Given the description of an element on the screen output the (x, y) to click on. 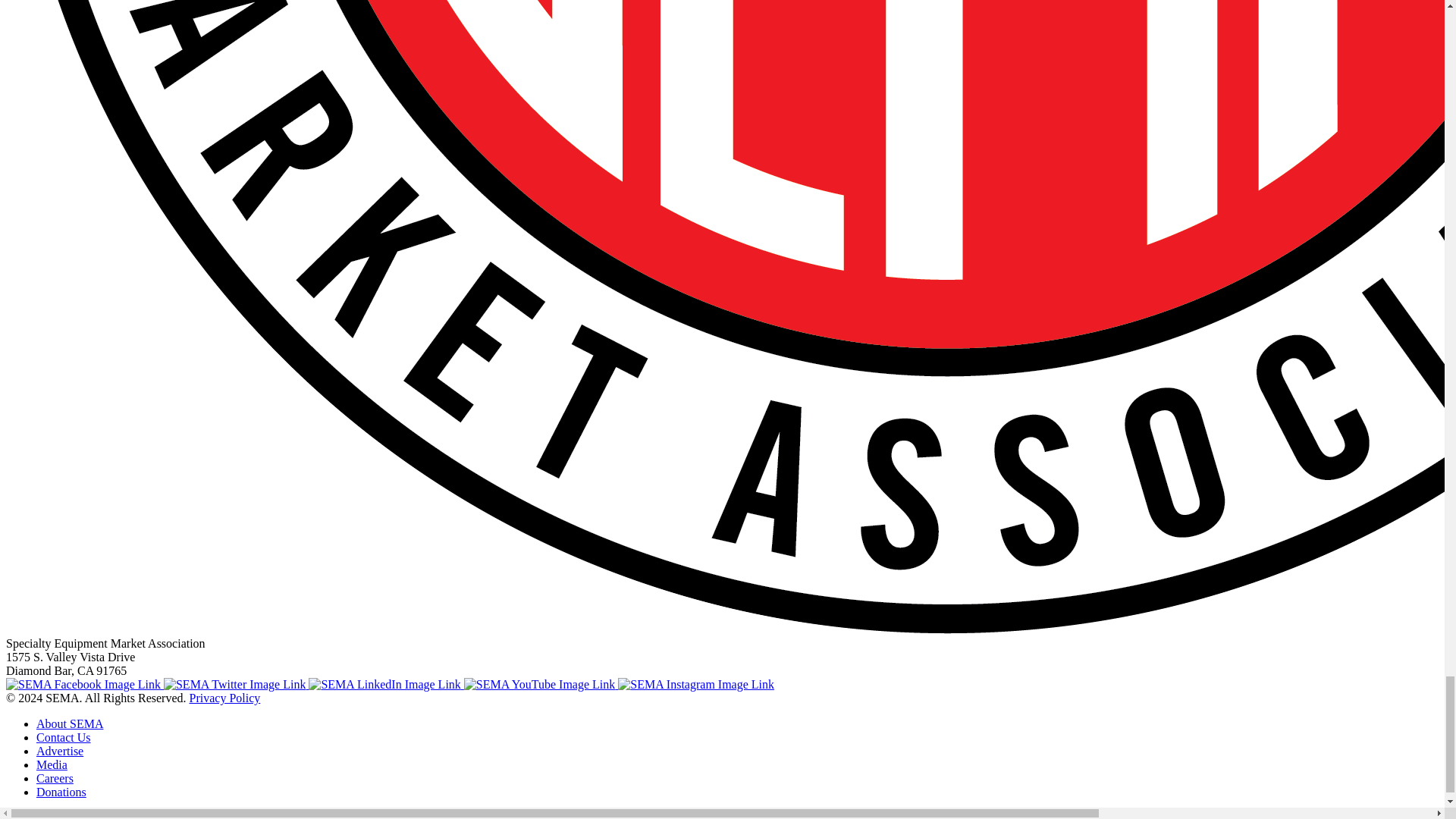
SEMA YouTube Link (540, 684)
SEMA Twitter Link (235, 684)
Privacy Policy (224, 697)
SEMA Instagram Link (695, 684)
SEMA Facebook Link (84, 684)
SEMA LinkedIn Link (385, 684)
